Given the description of an element on the screen output the (x, y) to click on. 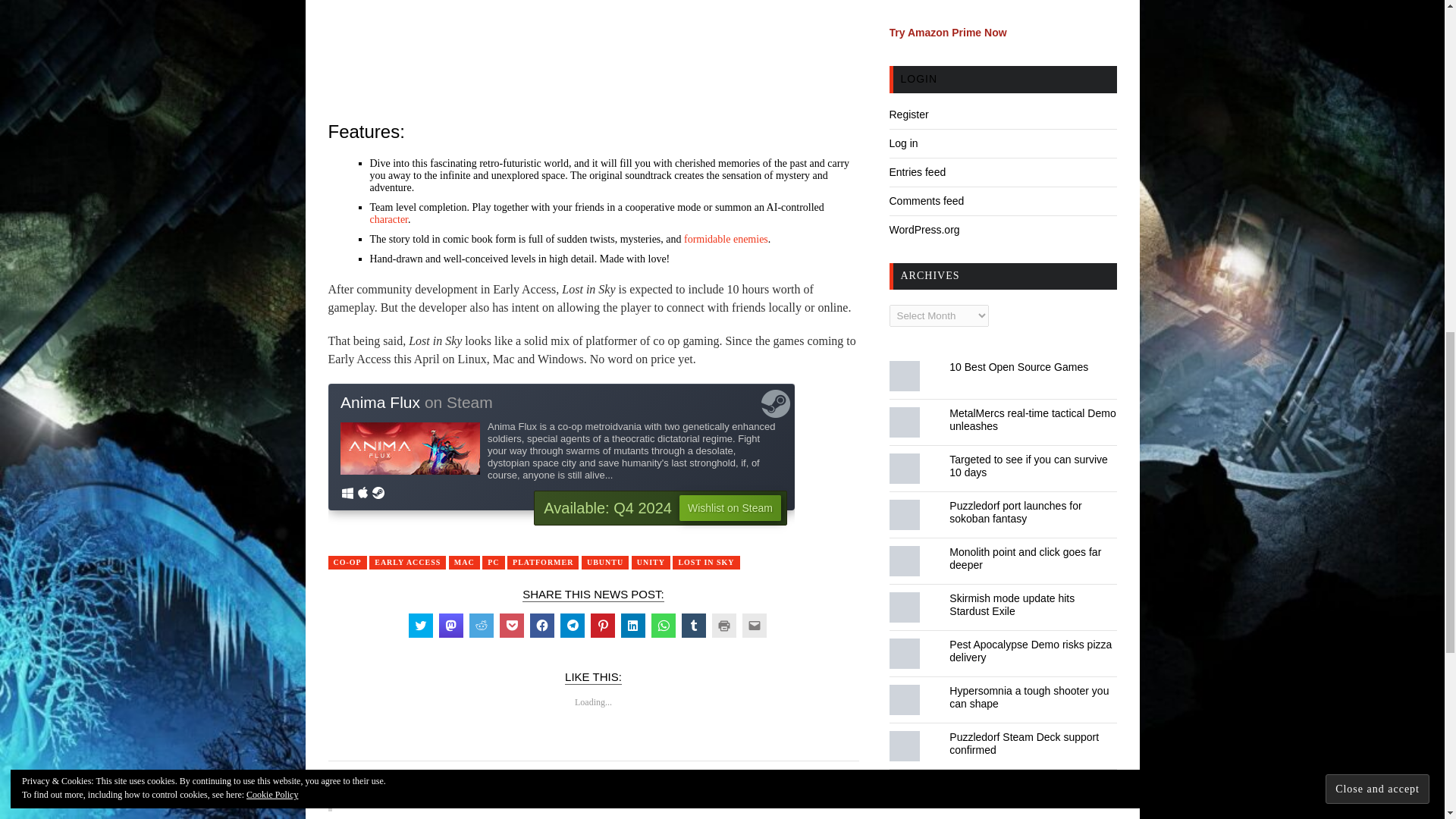
CO-OP (346, 562)
character (389, 219)
Click to share on WhatsApp (662, 625)
Click to share on Mastodon (450, 625)
Click to share on Pinterest (601, 625)
UBUNTU (604, 562)
PLATFORMER (542, 562)
Click to print (723, 625)
LOST IN SKY (705, 562)
UNITY (650, 562)
Click to share on Twitter (419, 625)
Click to share on Telegram (571, 625)
EARLY ACCESS (407, 562)
Click to share on Pocket (510, 625)
formidable enemies (726, 238)
